Given the description of an element on the screen output the (x, y) to click on. 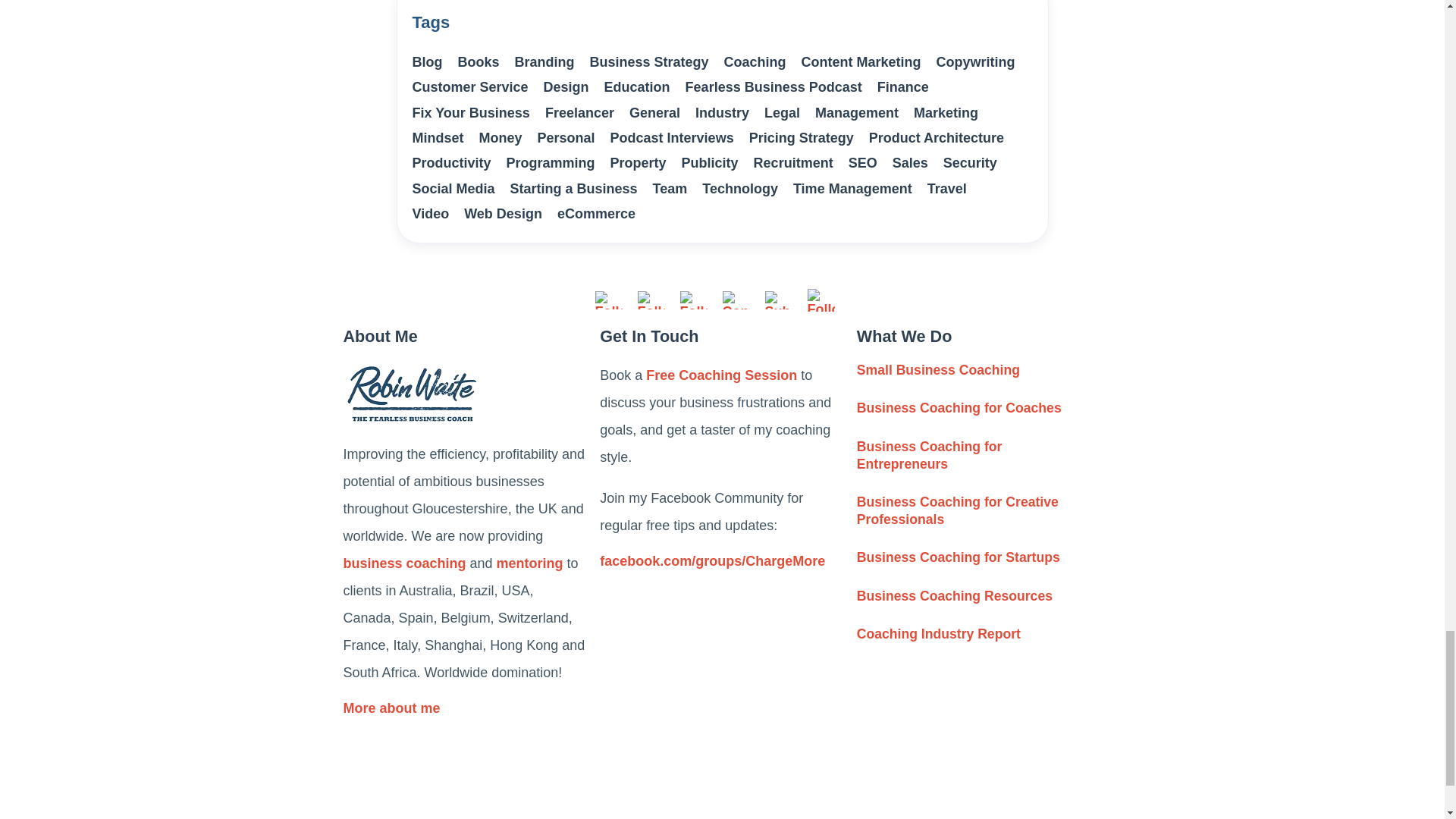
Blog (427, 61)
Branding (545, 61)
Content Marketing (861, 61)
Business Coaching Strategies (962, 407)
Small Business Coaching (979, 510)
Join the Confidently Charge More Facebook Group (721, 565)
Books (478, 61)
Copywriting (975, 61)
Business Strategy (649, 61)
Small Business Coaching (979, 455)
